Given the description of an element on the screen output the (x, y) to click on. 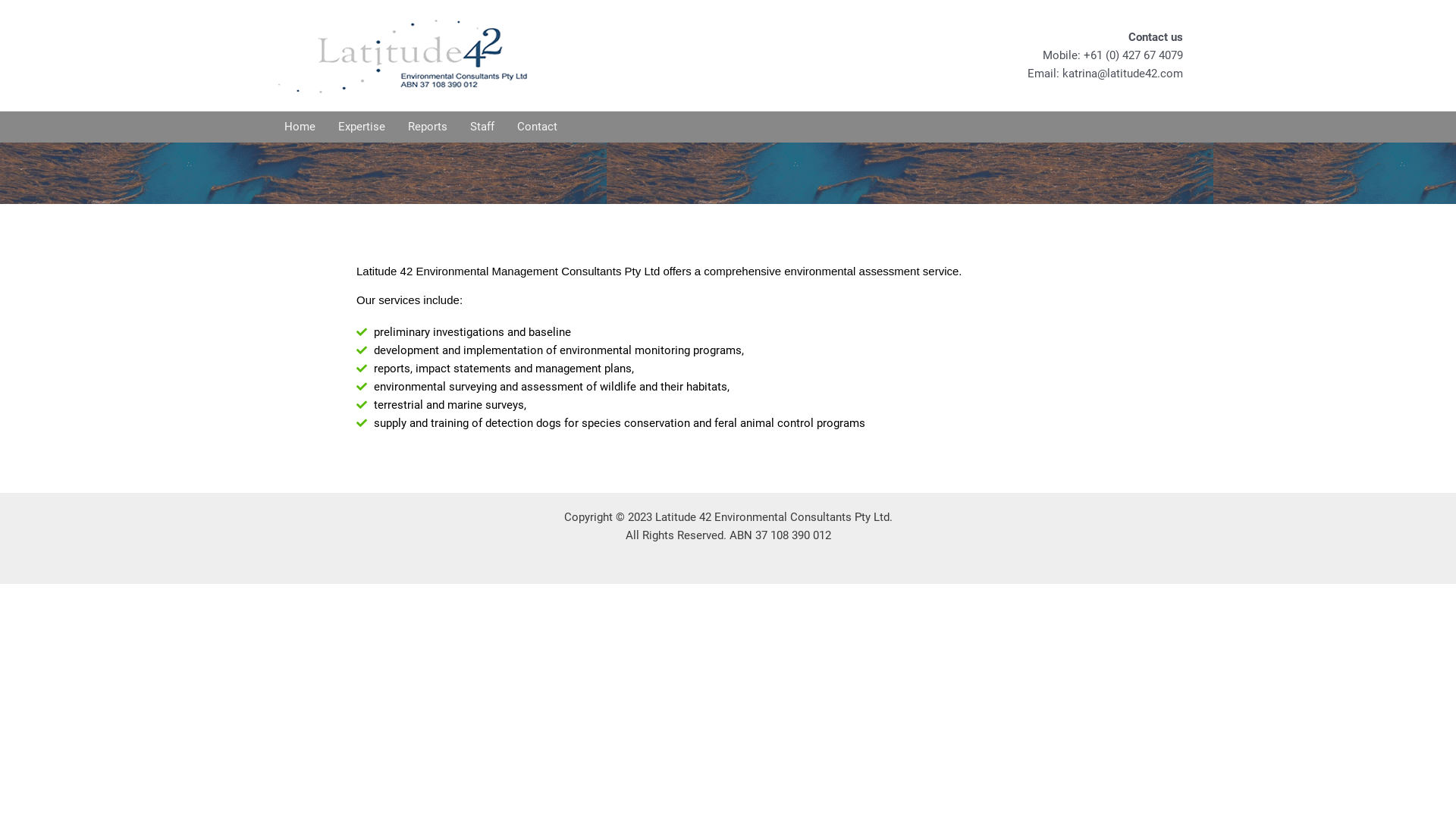
Contact Element type: text (536, 126)
Home Element type: text (299, 126)
Staff Element type: text (481, 126)
Reports Element type: text (427, 126)
Expertise Element type: text (361, 126)
